Given the description of an element on the screen output the (x, y) to click on. 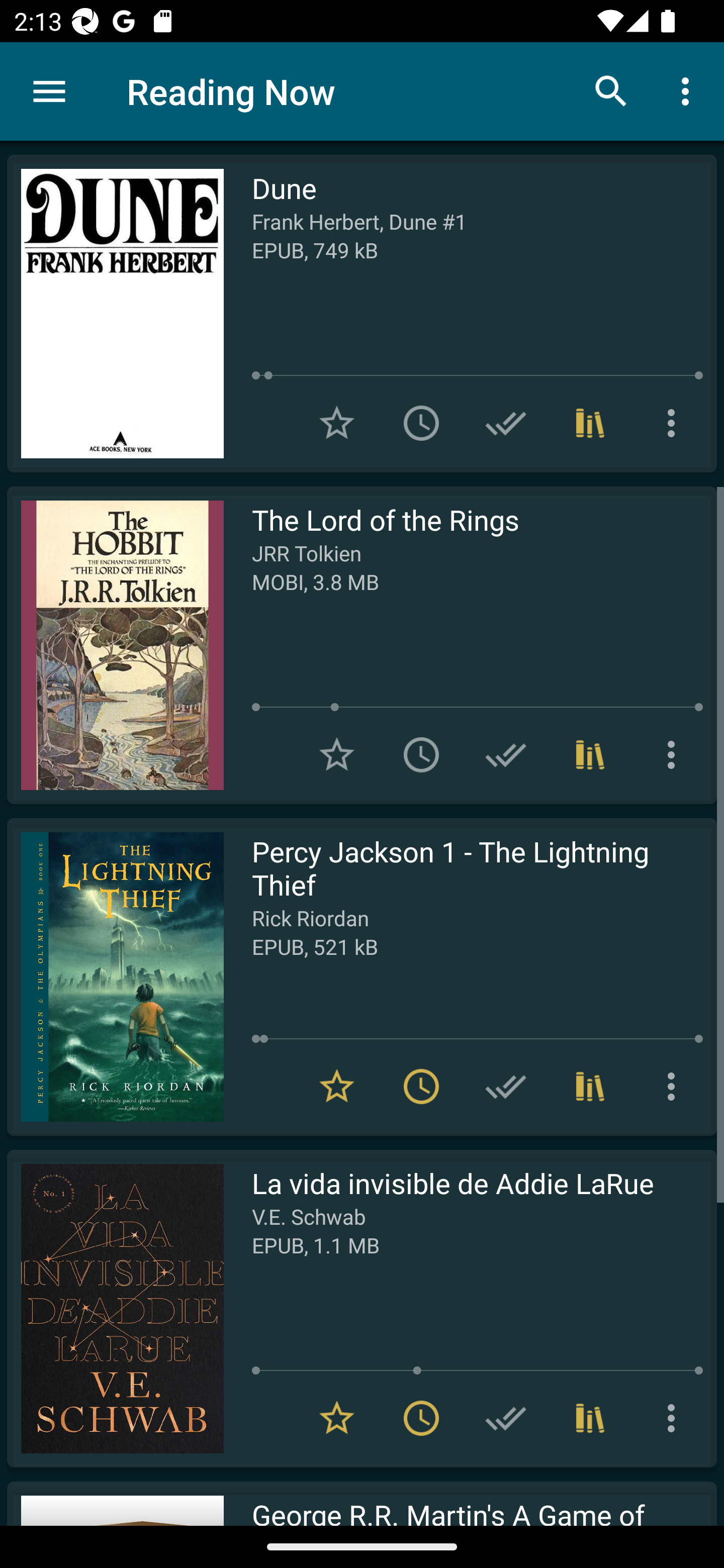
Menu (49, 91)
Search books & documents (611, 90)
More options (688, 90)
Read Dune (115, 313)
Add to Favorites (336, 423)
Add to To read (421, 423)
Add to Have read (505, 423)
Collections (1) (590, 423)
More options (674, 423)
Read The Lord of the Rings (115, 645)
Add to Favorites (336, 753)
Add to To read (421, 753)
Add to Have read (505, 753)
Collections (1) (590, 753)
More options (674, 753)
Read Percy Jackson 1 - The Lightning Thief (115, 976)
Remove from Favorites (336, 1086)
Remove from To read (421, 1086)
Add to Have read (505, 1086)
Collections (1) (590, 1086)
More options (674, 1086)
Read La vida invisible de Addie LaRue (115, 1308)
Remove from Favorites (336, 1417)
Remove from To read (421, 1417)
Add to Have read (505, 1417)
Collections (1) (590, 1417)
More options (674, 1417)
